Given the description of an element on the screen output the (x, y) to click on. 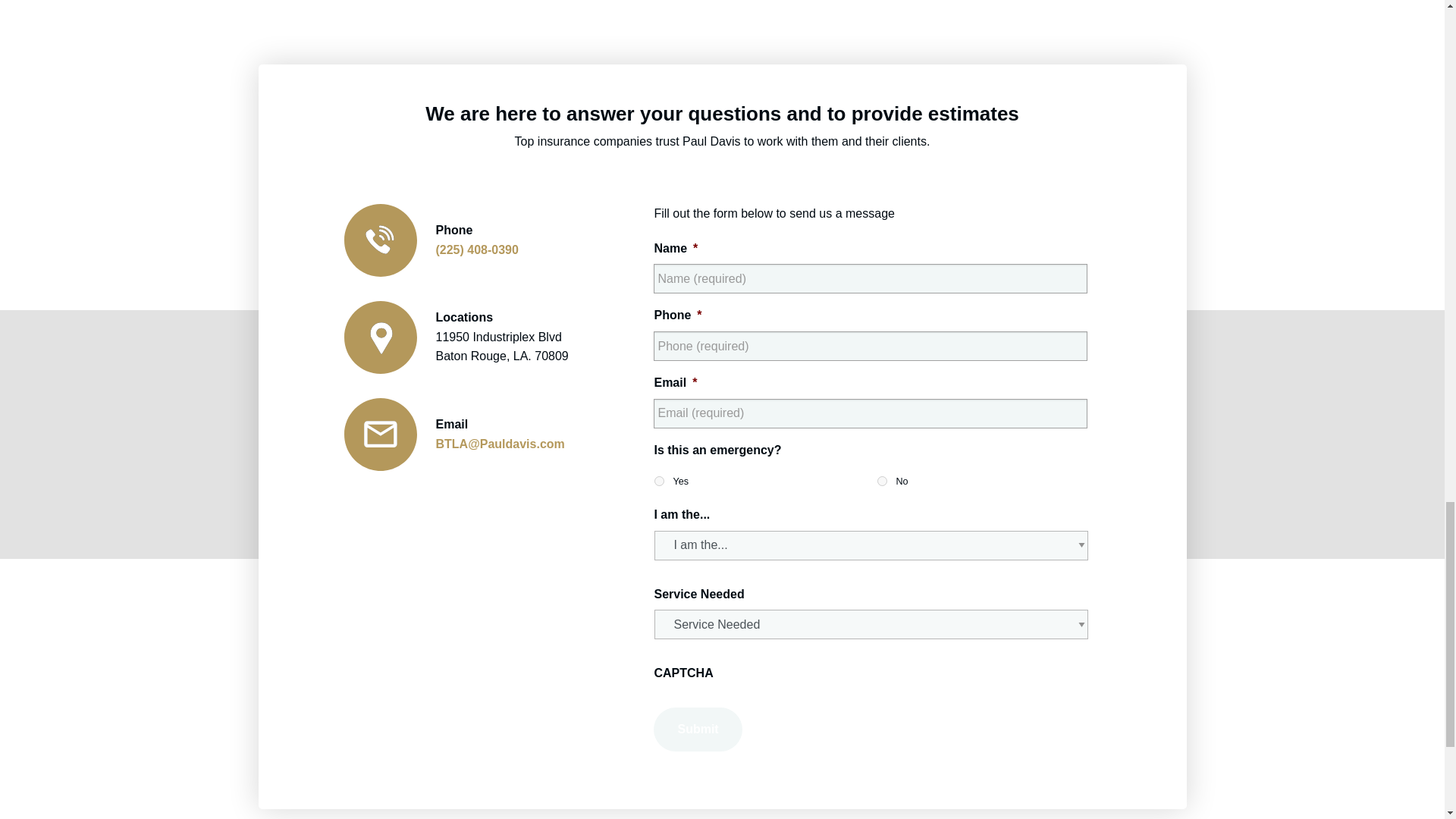
Submit (697, 729)
Yes (658, 480)
No (881, 480)
